Given the description of an element on the screen output the (x, y) to click on. 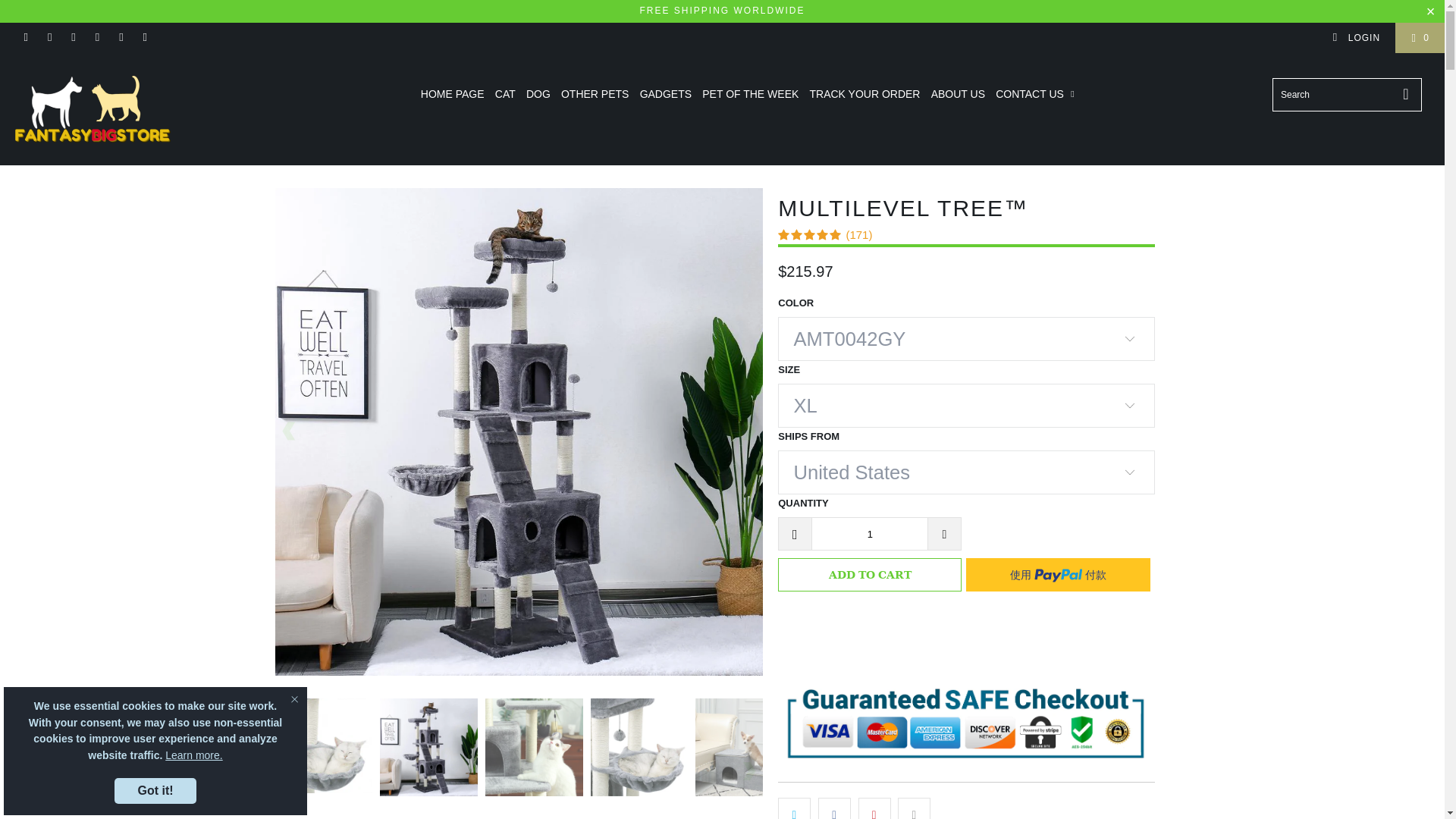
1 (869, 533)
FANTASY BIG STORE on Instagram (121, 37)
Email FANTASY BIG STORE (144, 37)
My Account  (1355, 37)
Share this on Twitter (793, 808)
FANTASY BIG STORE on Facebook (48, 37)
FANTASY BIG STORE (122, 109)
FANTASY BIG STORE on YouTube (73, 37)
Email this to a friend (914, 808)
FANTASY BIG STORE on Pinterest (96, 37)
FANTASY BIG STORE on Twitter (25, 37)
Share this on Facebook (834, 808)
Share this on Pinterest (875, 808)
